Given the description of an element on the screen output the (x, y) to click on. 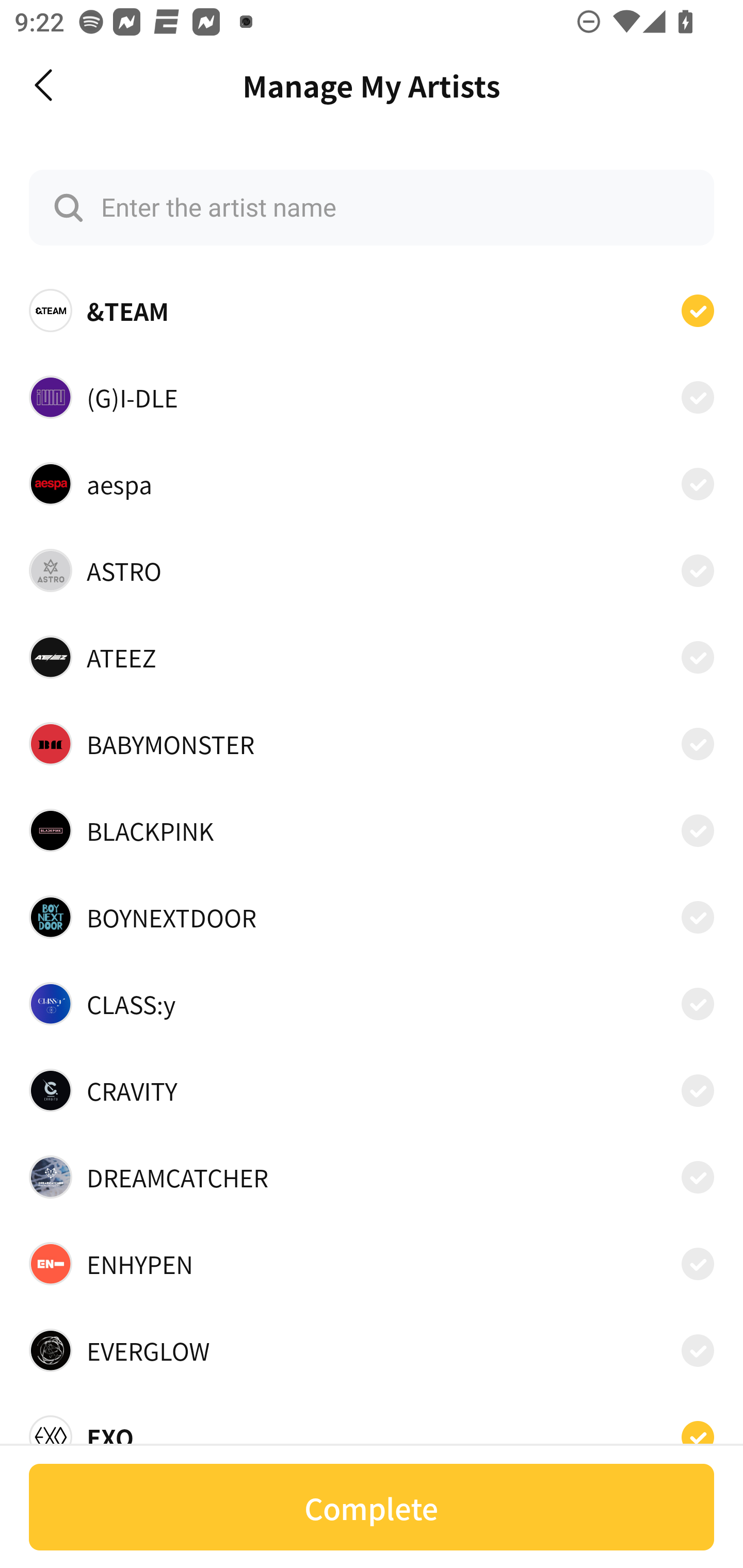
Enter the artist name (371, 207)
&TEAM (371, 310)
(G)I-DLE (371, 396)
aespa (371, 483)
ASTRO (371, 570)
ATEEZ (371, 656)
BABYMONSTER (371, 743)
BLACKPINK (371, 830)
BOYNEXTDOOR (371, 917)
CLASS:y (371, 1003)
CRAVITY (371, 1090)
DREAMCATCHER (371, 1176)
ENHYPEN (371, 1263)
EVERGLOW (371, 1350)
EXO (371, 1430)
Complete (371, 1507)
